Given the description of an element on the screen output the (x, y) to click on. 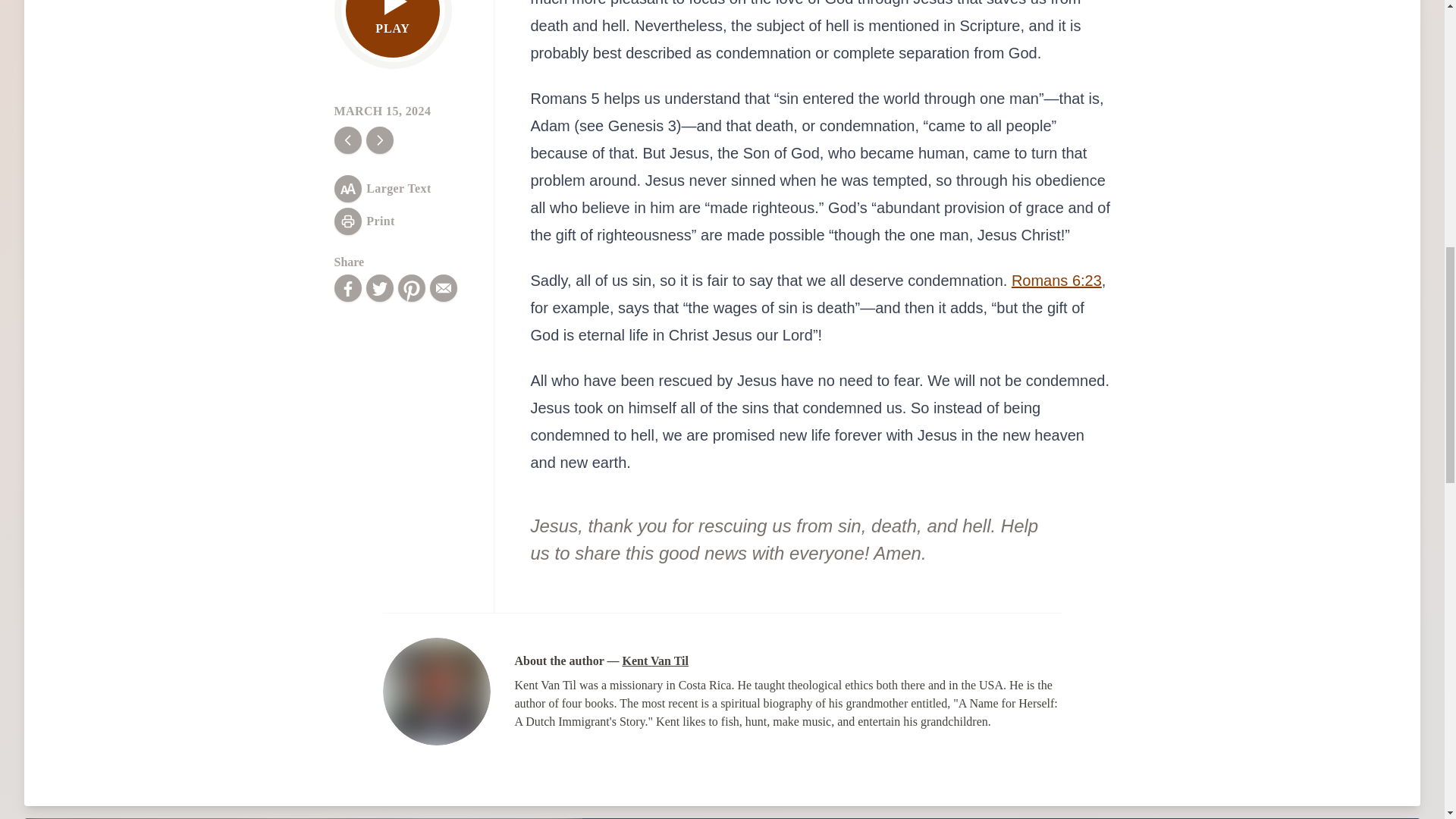
Kent Van Til (654, 660)
Share on Facebook (347, 288)
Share on Twitter (379, 288)
Share on Twitter (379, 288)
Larger Text (381, 188)
Share on Pinterest (411, 288)
Share by Email (443, 288)
Share on Pinterest (411, 288)
Share by Email (443, 288)
PLAY (392, 28)
